Given the description of an element on the screen output the (x, y) to click on. 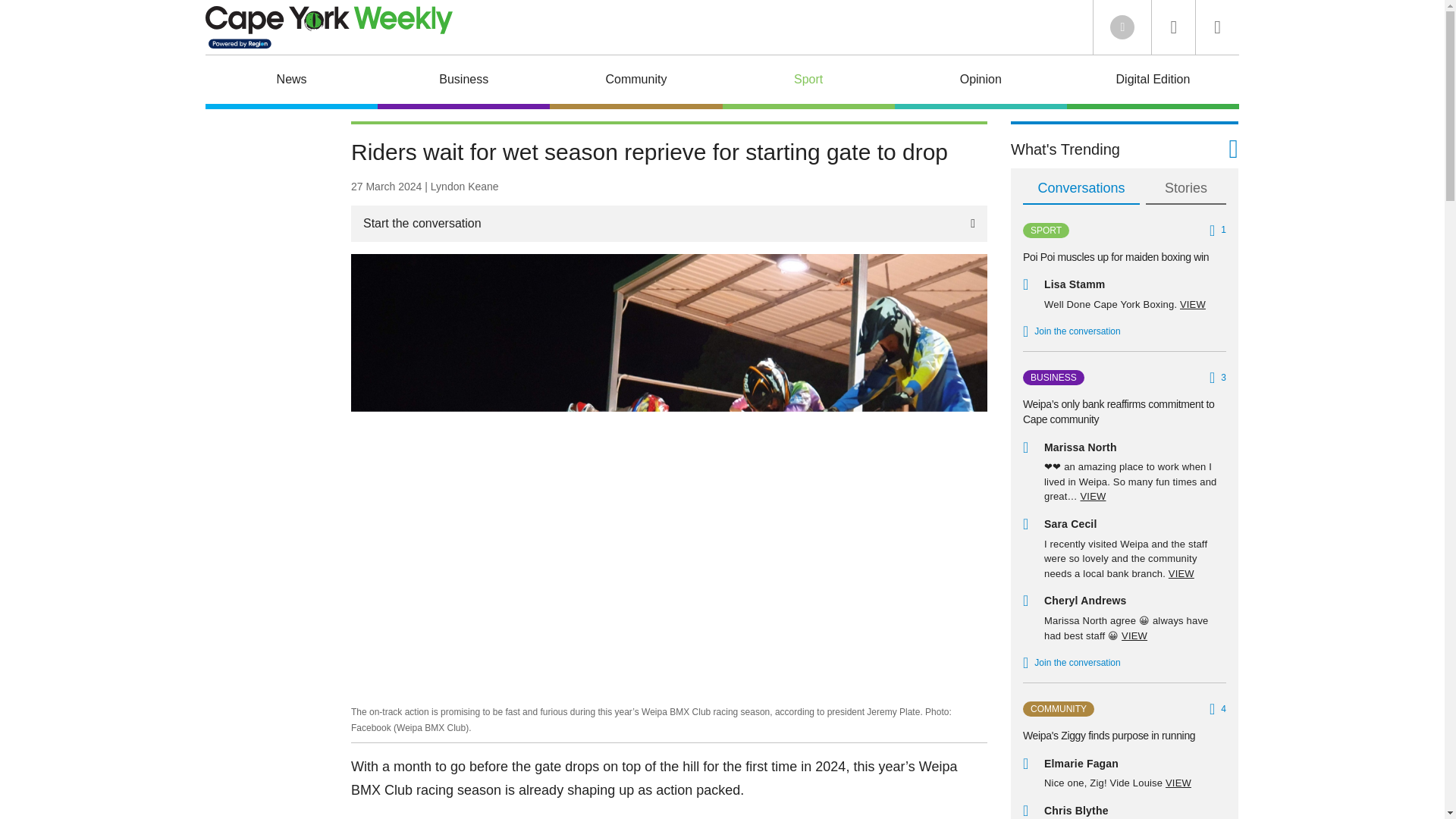
Community (636, 81)
Business (463, 81)
Facebook (1121, 27)
Cape York Weekly Home (328, 26)
News (291, 81)
